Given the description of an element on the screen output the (x, y) to click on. 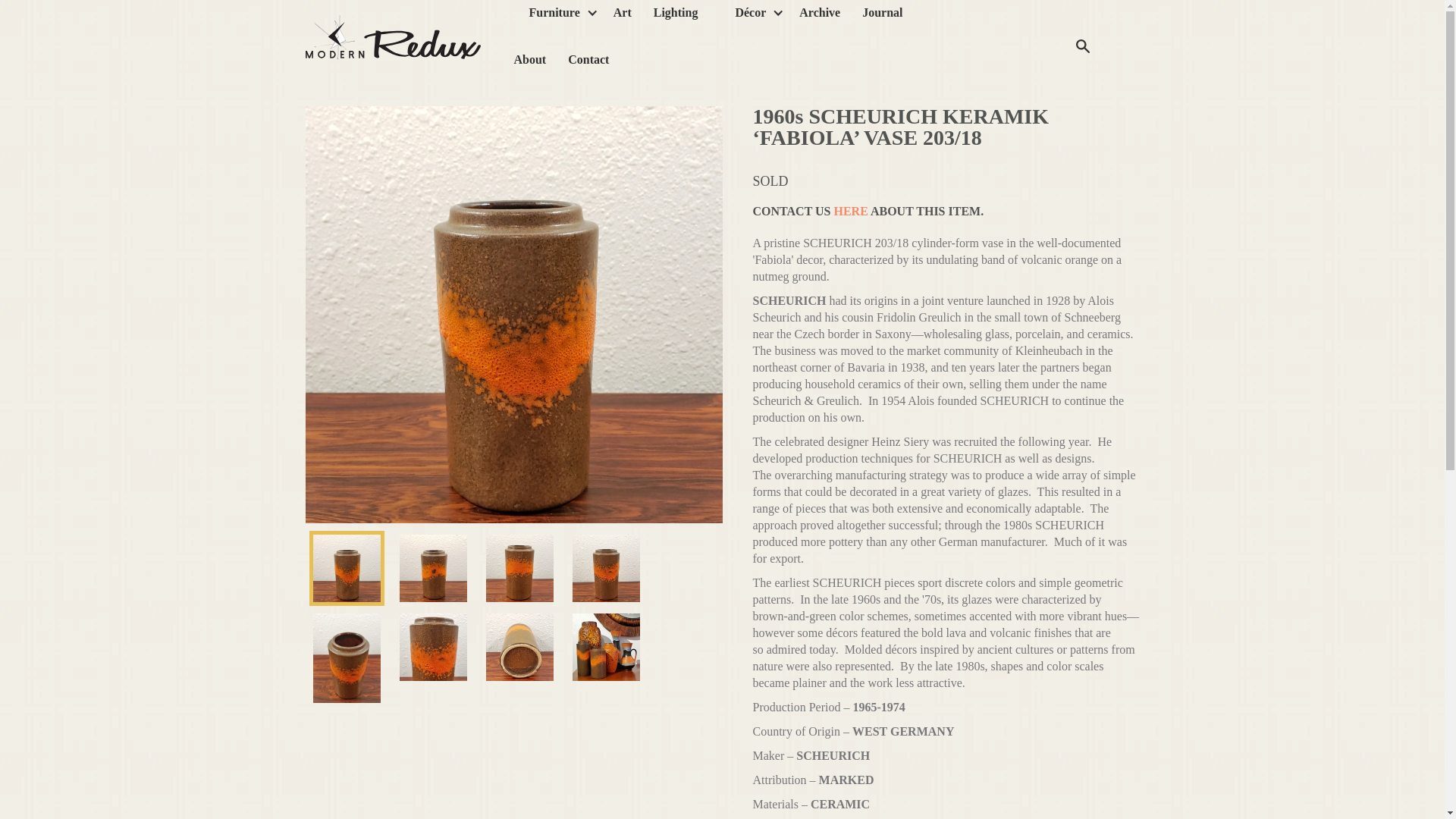
HERE (849, 210)
Archive (819, 18)
Lighting (675, 18)
Journal (881, 18)
Search (1082, 45)
